Given the description of an element on the screen output the (x, y) to click on. 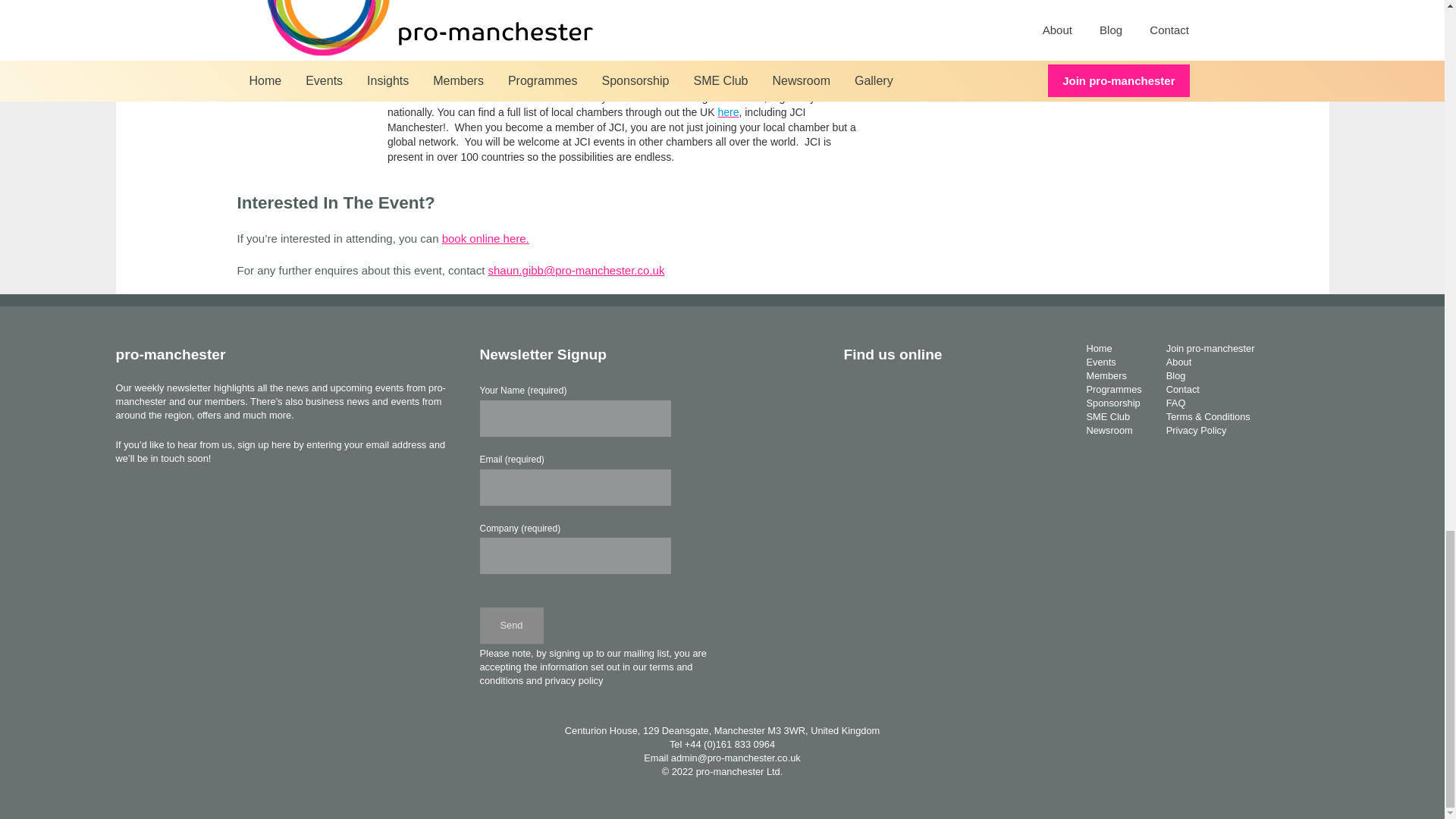
Home (1099, 348)
Programmes (1113, 389)
Events (1100, 361)
Newsroom (1109, 430)
Send (511, 625)
privacy policy (574, 680)
Send (511, 625)
Facebook (853, 390)
book online here. (485, 237)
Members (1105, 375)
Sponsorship (1113, 402)
SME Club (1107, 416)
LinkedIn (904, 390)
terms and conditions (586, 673)
here (727, 111)
